Given the description of an element on the screen output the (x, y) to click on. 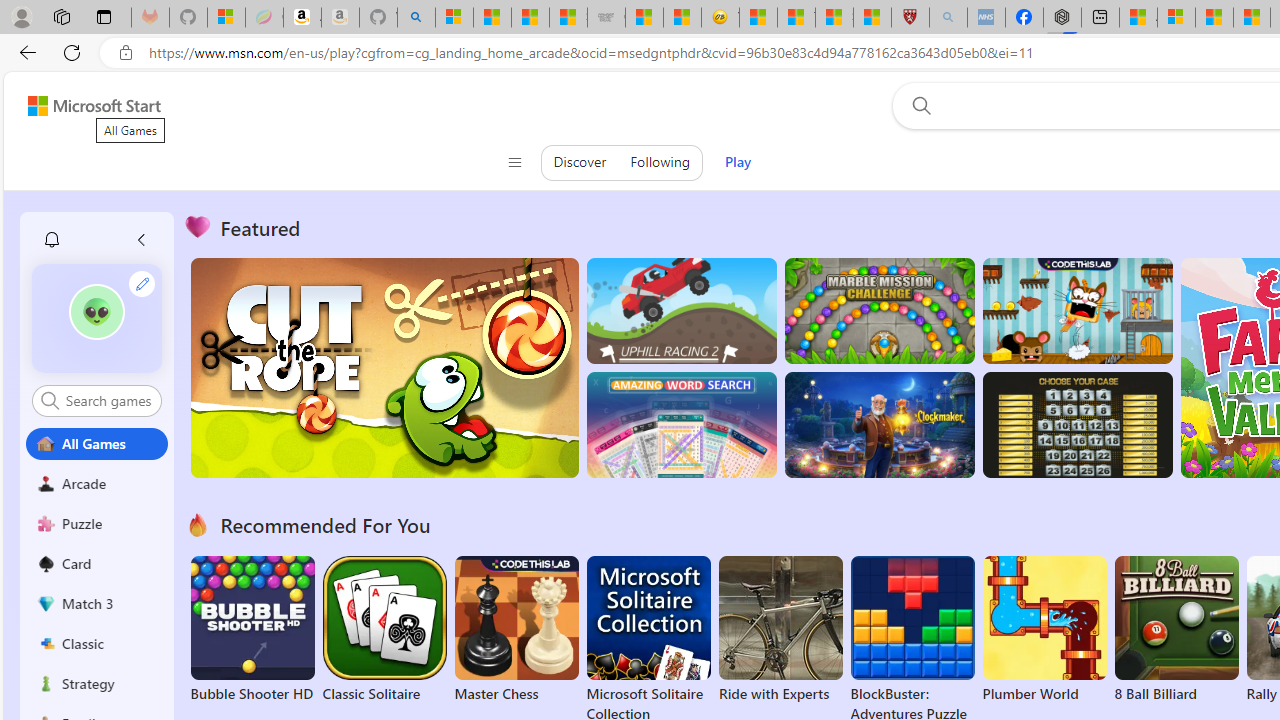
Master Chess (516, 629)
Plumber World (1044, 629)
Classic Solitaire (384, 629)
Up Hill Racing 2 (681, 310)
""'s avatar (96, 312)
